Given the description of an element on the screen output the (x, y) to click on. 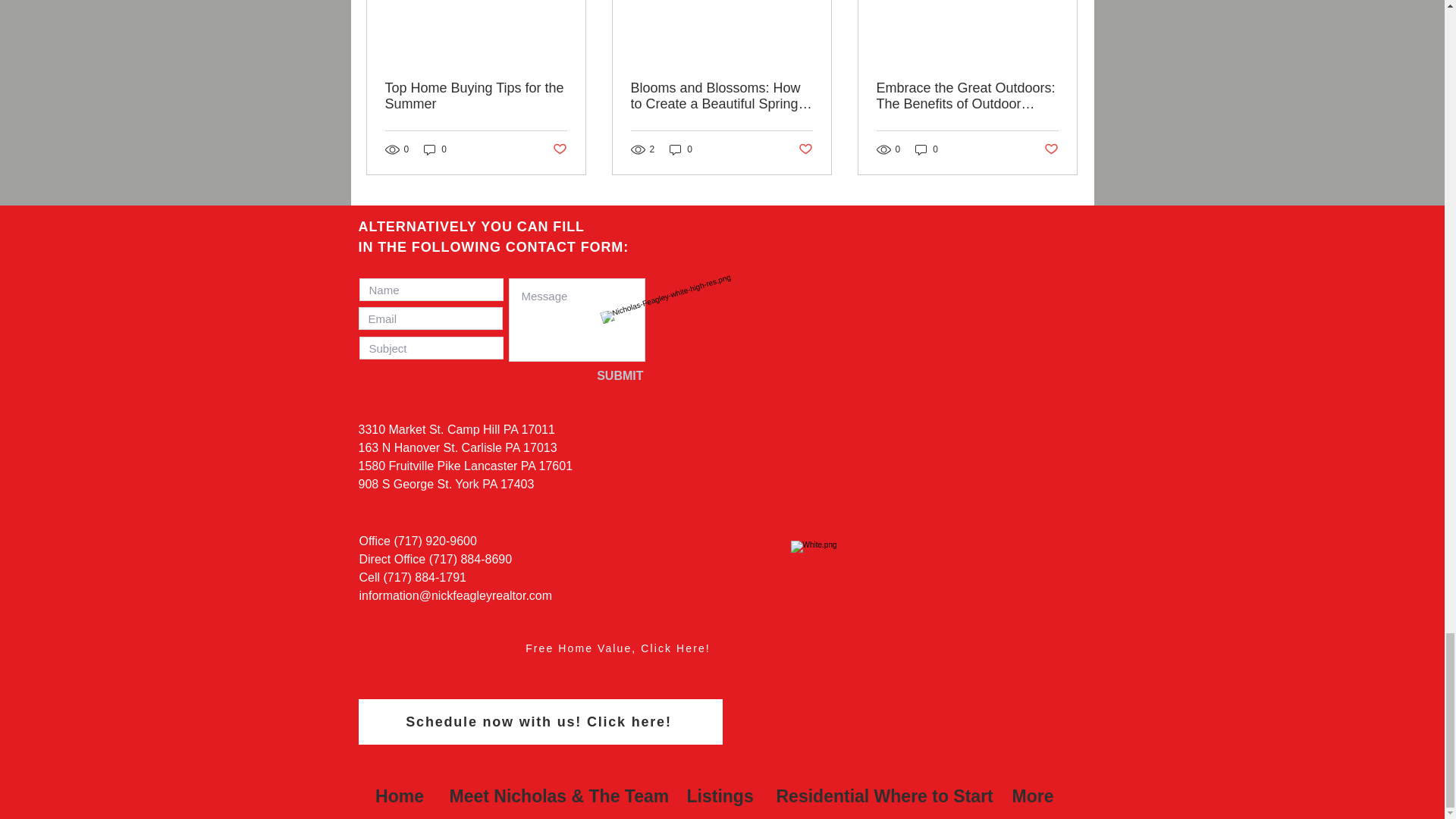
Post not marked as liked (804, 149)
Schedule now with us! Click here! (540, 721)
0 (926, 149)
0 (435, 149)
Free Home Value, Click Here! (617, 648)
SUBMIT (593, 375)
Top Home Buying Tips for the Summer (476, 96)
Post not marked as liked (558, 149)
